Given the description of an element on the screen output the (x, y) to click on. 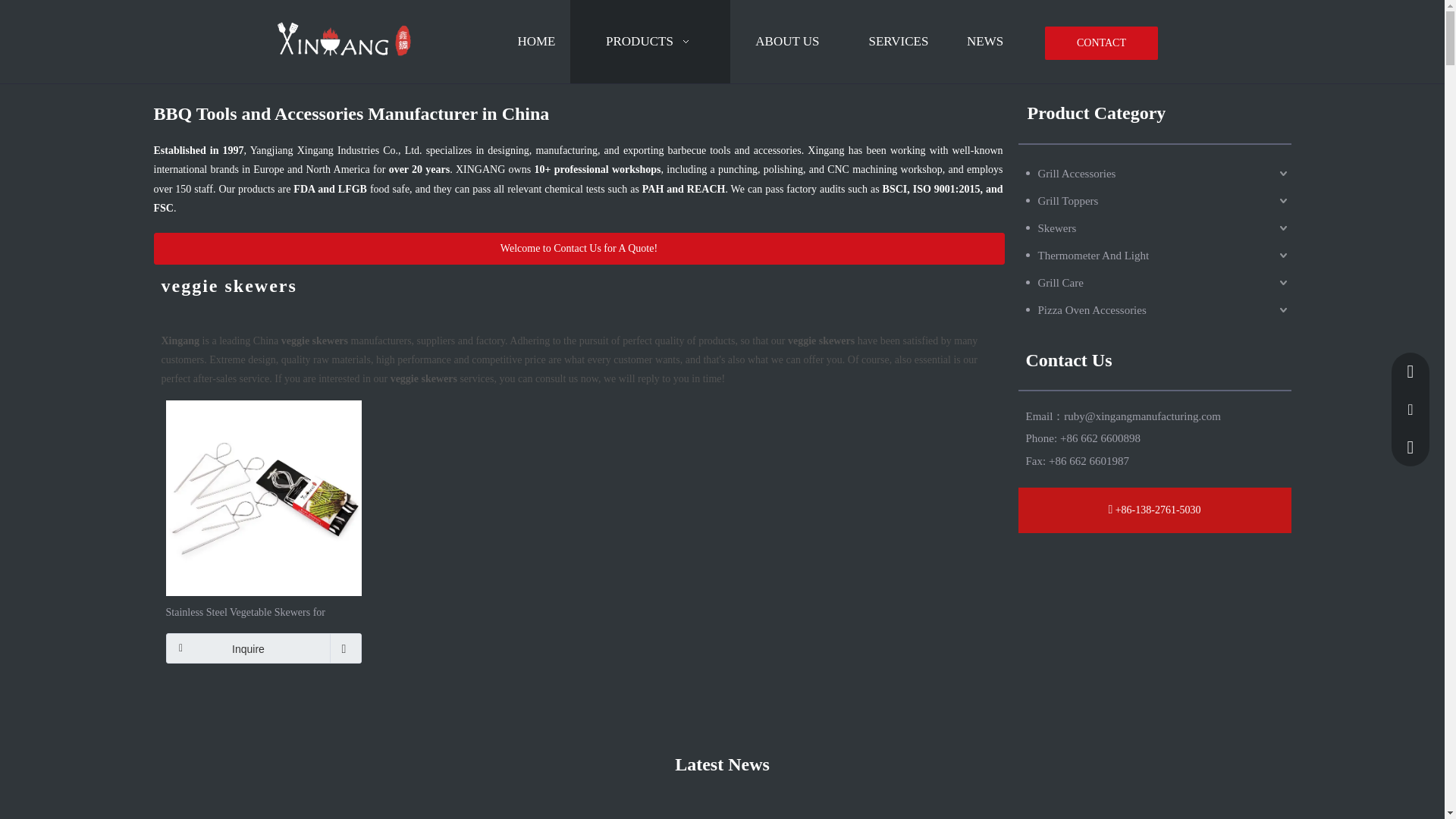
Grill Toppers (1157, 200)
Stainless Steel Vegetable Skewers for Grilling (263, 610)
Grill Accessories (1157, 173)
Stainless Steel Vegetable Skewers for Grilling (263, 496)
CONTACT (1101, 42)
Skewers (1157, 227)
Grill Accessories (1157, 173)
Inquire (263, 648)
Welcome to Contact Us for A Quote! (578, 248)
SERVICES (898, 41)
logo (342, 38)
PRODUCTS   (649, 41)
ABOUT US (787, 41)
Stainless Steel Vegetable Skewers for Grilling (263, 610)
Grill Toppers (1157, 200)
